Given the description of an element on the screen output the (x, y) to click on. 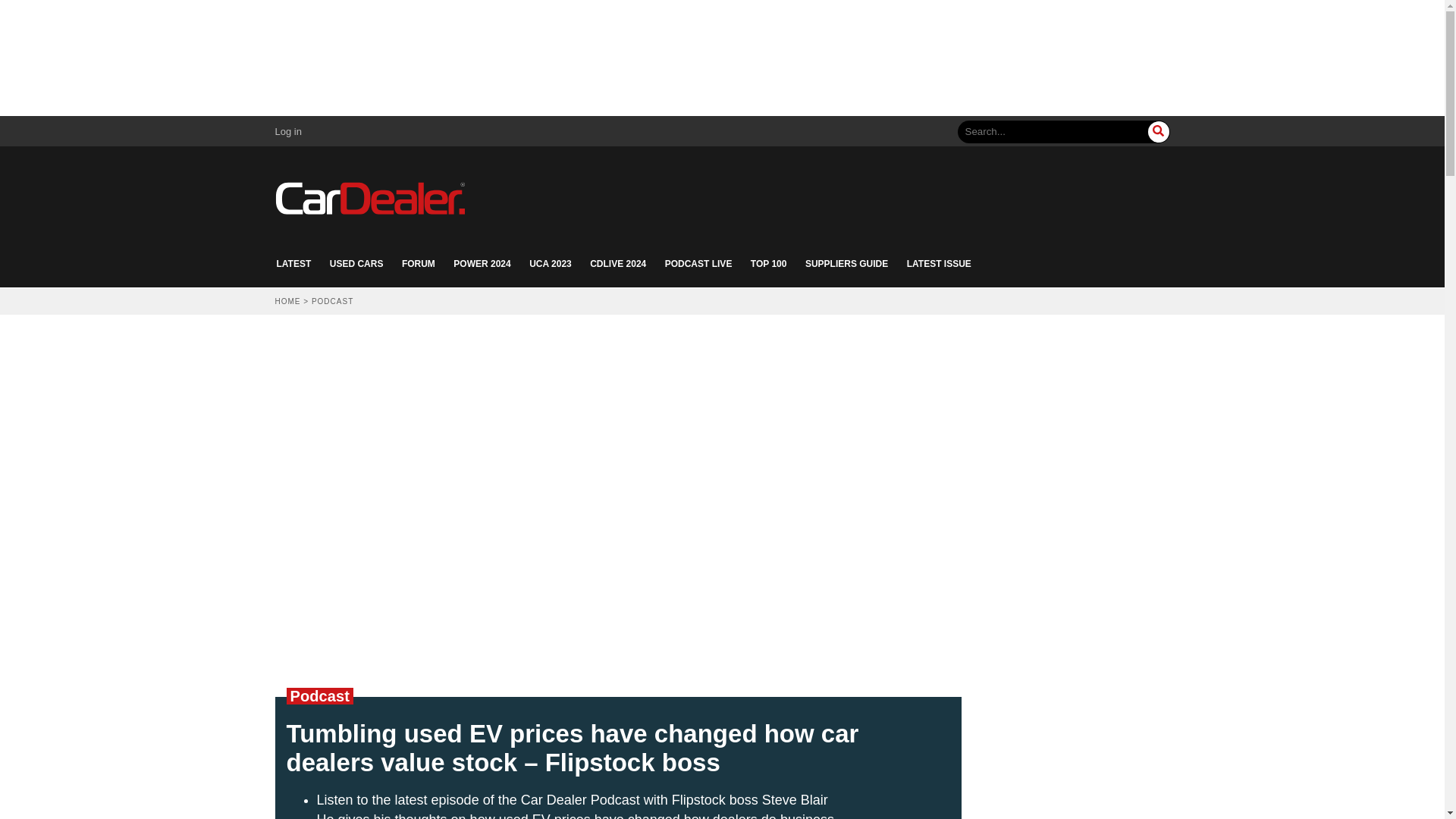
FORUM (418, 263)
CDLIVE 2024 (617, 263)
PODCAST LIVE (698, 263)
Podcast (319, 695)
UCA 2023 (550, 263)
USED CARS (357, 263)
TOP 100 (769, 263)
Log in (288, 131)
LATEST ISSUE (939, 263)
HOME (287, 301)
